Given the description of an element on the screen output the (x, y) to click on. 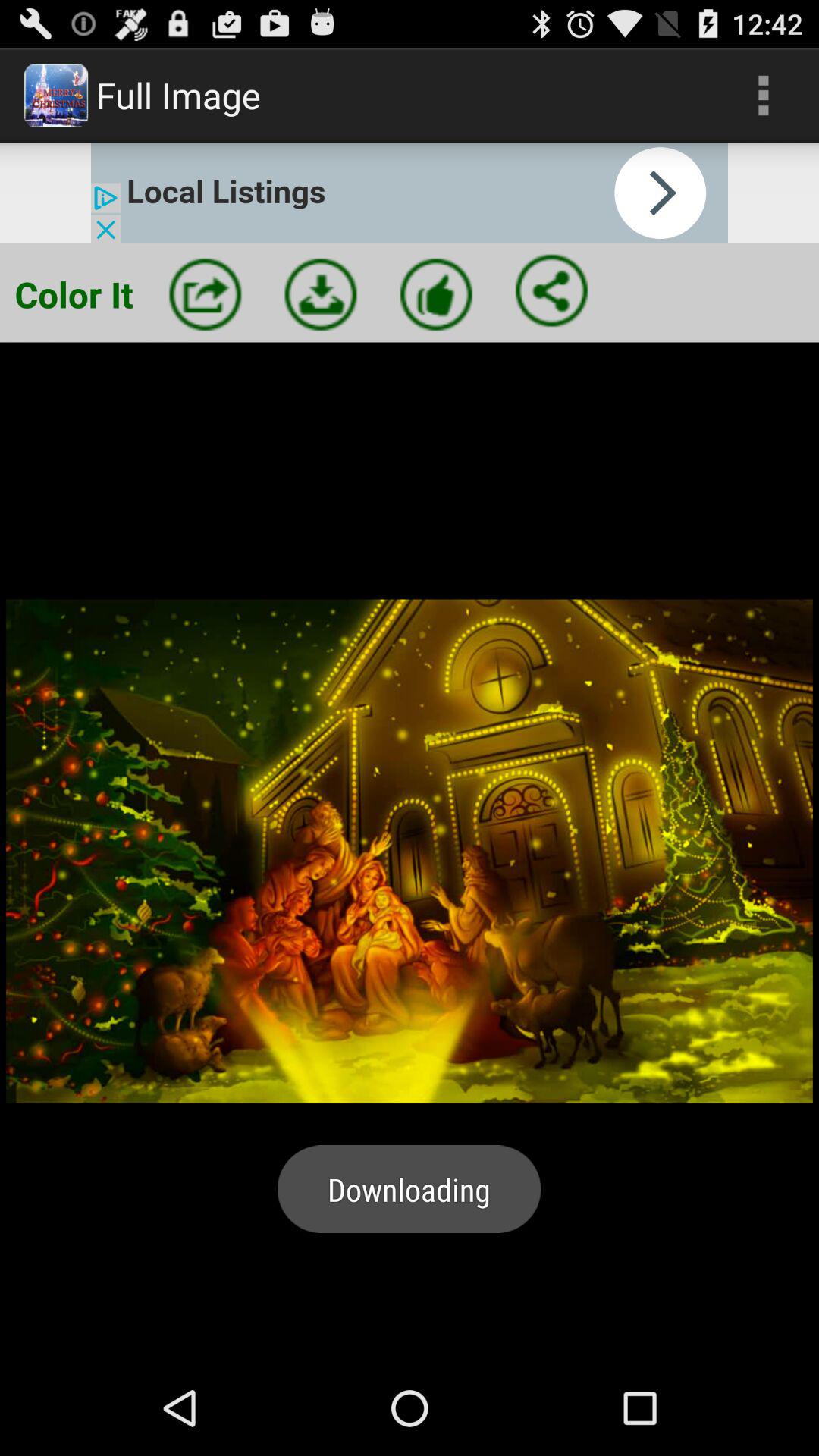
share (551, 290)
